Given the description of an element on the screen output the (x, y) to click on. 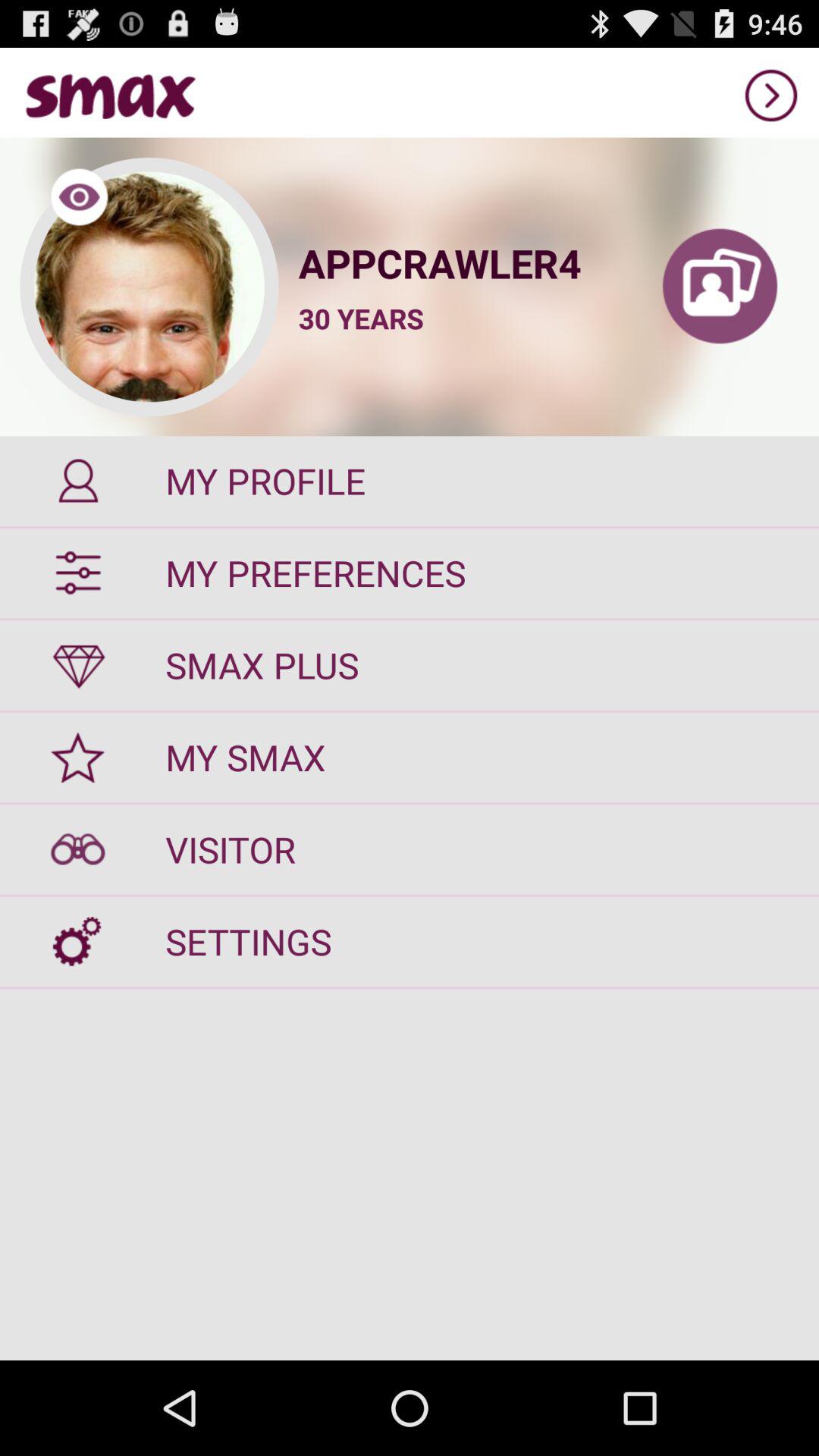
scroll to the 30 years app (360, 318)
